Given the description of an element on the screen output the (x, y) to click on. 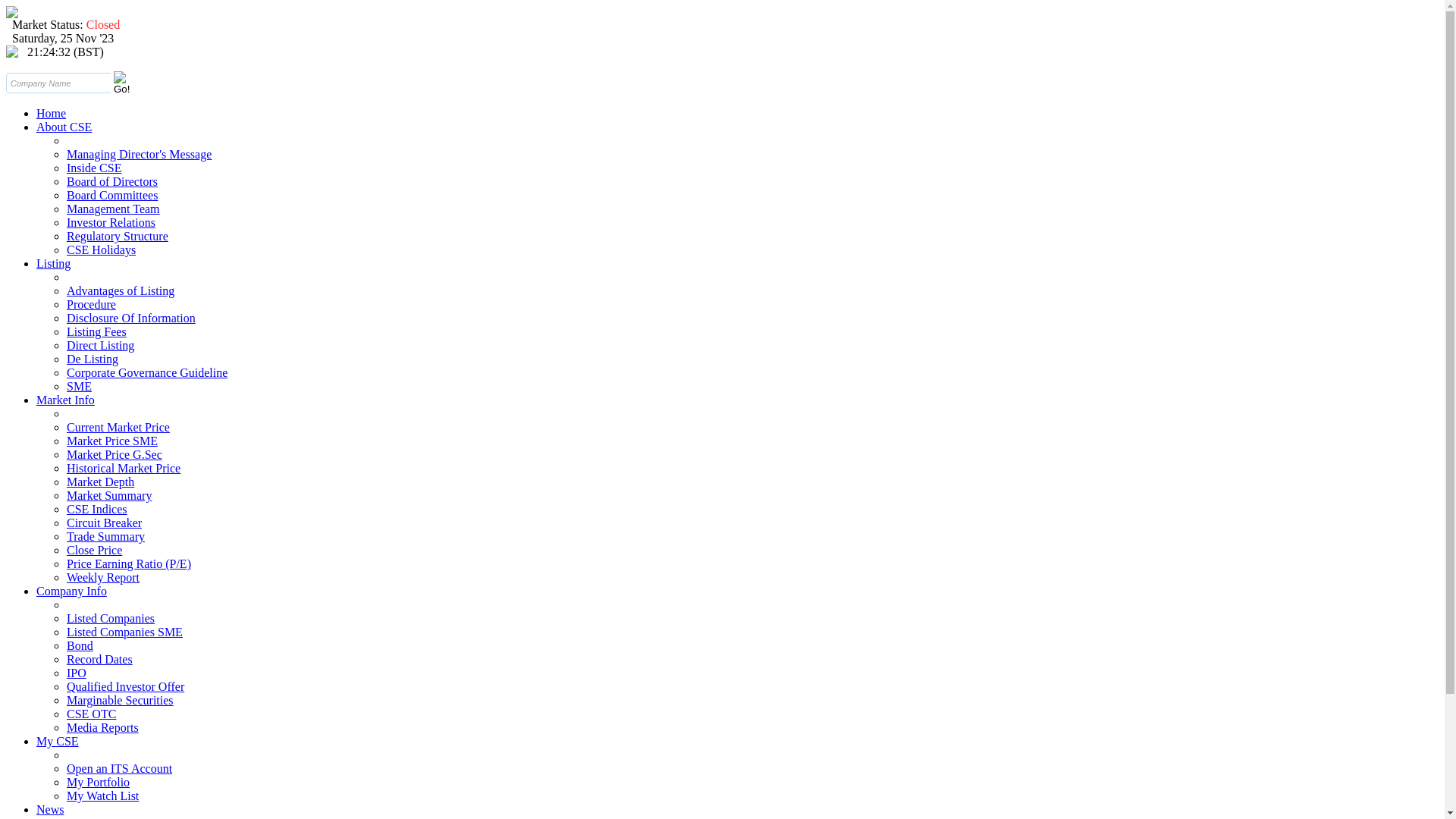
Market Price G.Sec Element type: text (114, 454)
Advantages of Listing Element type: text (120, 290)
Disclosure Of Information Element type: text (130, 317)
Market Summary Element type: text (108, 495)
Home Element type: text (50, 112)
Inside CSE Element type: text (93, 167)
CSE OTC Element type: text (91, 713)
De Listing Element type: text (92, 358)
Price Earning Ratio (P/E) Element type: text (128, 563)
Weekly Report Element type: text (102, 577)
Managing Director's Message Element type: text (138, 153)
Direct Listing Element type: text (100, 344)
CSE Indices Element type: text (96, 508)
Market Info Element type: text (65, 399)
Media Reports Element type: text (102, 727)
SME Element type: text (78, 385)
Board Committees Element type: text (111, 194)
Listing Fees Element type: text (96, 331)
Management Team Element type: text (113, 208)
Corporate Governance Guideline Element type: text (146, 372)
Market Depth Element type: text (100, 481)
News Element type: text (49, 809)
Search here Element type: hover (58, 82)
CSE Holidays Element type: text (100, 249)
Close Price Element type: text (94, 549)
Listing Element type: text (53, 263)
Investor Relations Element type: text (110, 222)
Listed Companies Element type: text (110, 617)
Circuit Breaker Element type: text (103, 522)
Board of Directors Element type: text (111, 181)
About CSE Element type: text (63, 126)
Procedure Element type: text (91, 304)
Market Price SME Element type: text (111, 440)
Current Market Price Element type: text (117, 426)
IPO Element type: text (76, 672)
Listed Companies SME Element type: text (124, 631)
Open an ITS Account Element type: text (119, 768)
Marginable Securities Element type: text (119, 699)
Historical Market Price Element type: text (123, 467)
Qualified Investor Offer Element type: text (125, 686)
Company Info Element type: text (71, 590)
Regulatory Structure Element type: text (117, 235)
Trade Summary Element type: text (105, 536)
My Watch List Element type: text (102, 795)
Bond Element type: text (79, 645)
My Portfolio Element type: text (97, 781)
Record Dates Element type: text (99, 658)
My CSE Element type: text (57, 740)
